Given the description of an element on the screen output the (x, y) to click on. 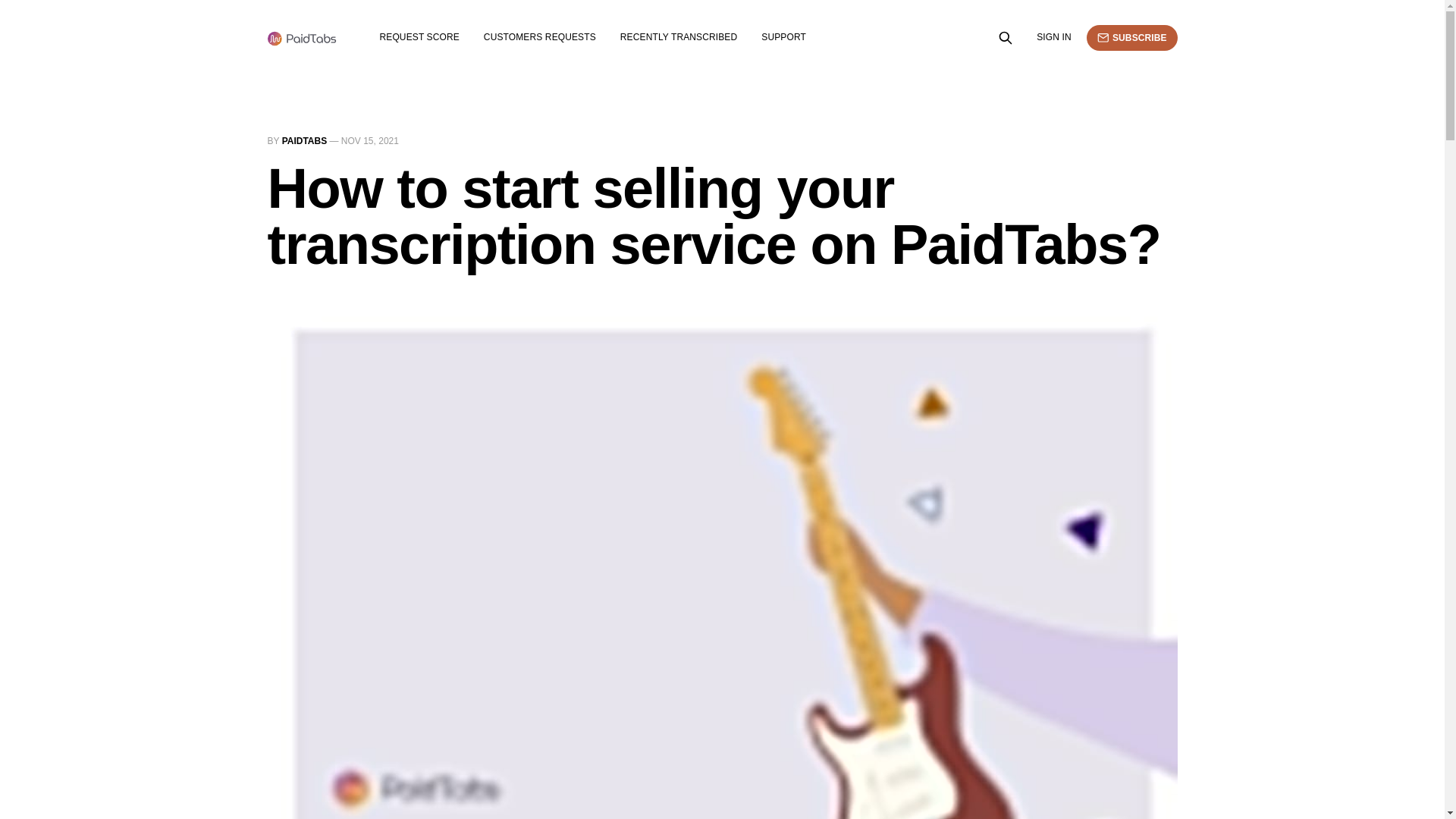
CUSTOMERS REQUESTS (539, 36)
SIGN IN (1053, 37)
SUPPORT (783, 36)
RECENTLY TRANSCRIBED (678, 36)
SUBSCRIBE (1131, 37)
REQUEST SCORE (418, 36)
PAIDTABS (304, 140)
